Given the description of an element on the screen output the (x, y) to click on. 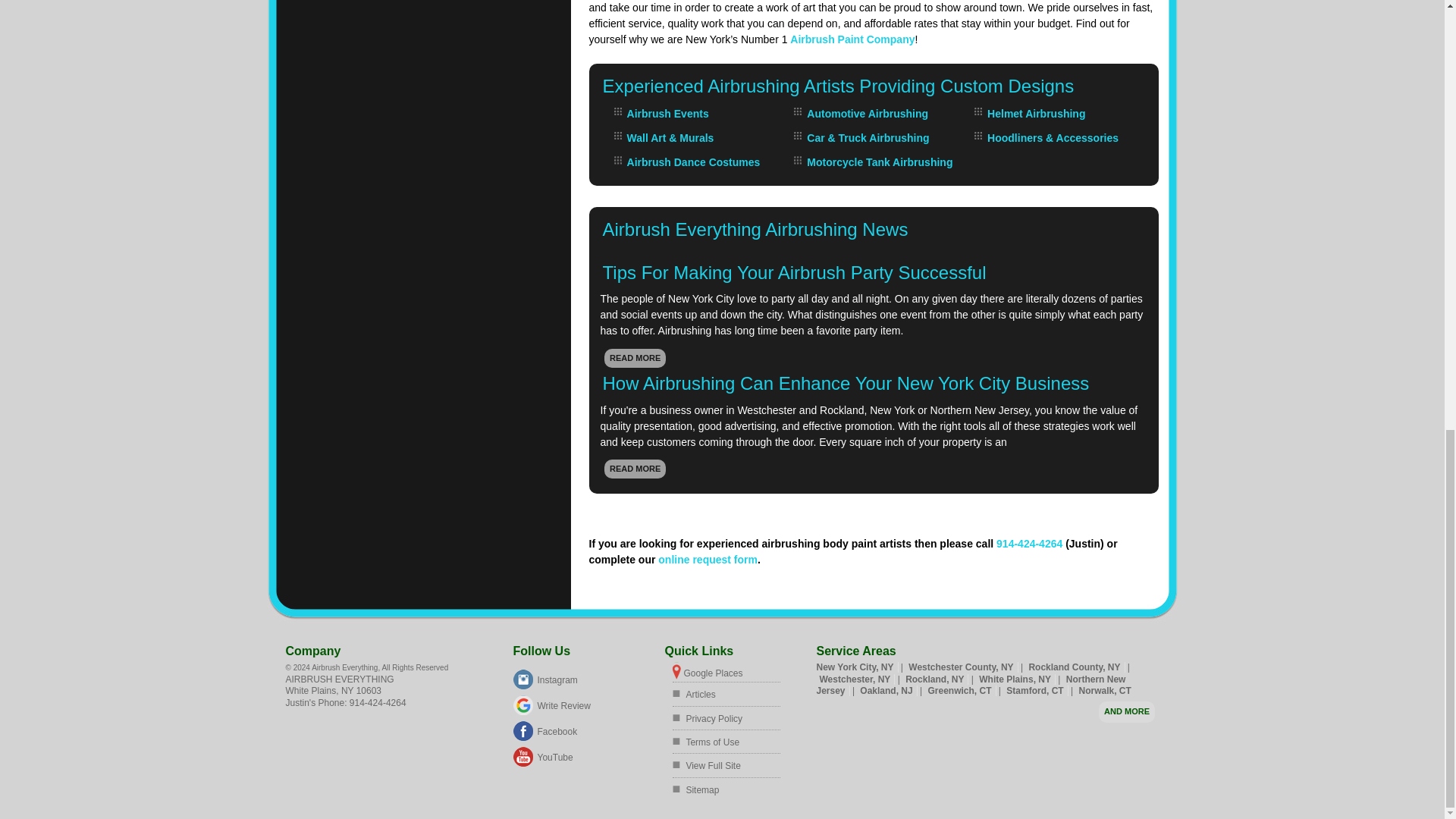
Airbrush Dance Costumes (693, 162)
Airbrush Paint Company (852, 39)
Airbrush Events (668, 113)
Helmet Airbrushing (1035, 113)
Automotive Airbrushing (867, 113)
Motorcycle Tank Airbrushing (879, 162)
